Given the description of an element on the screen output the (x, y) to click on. 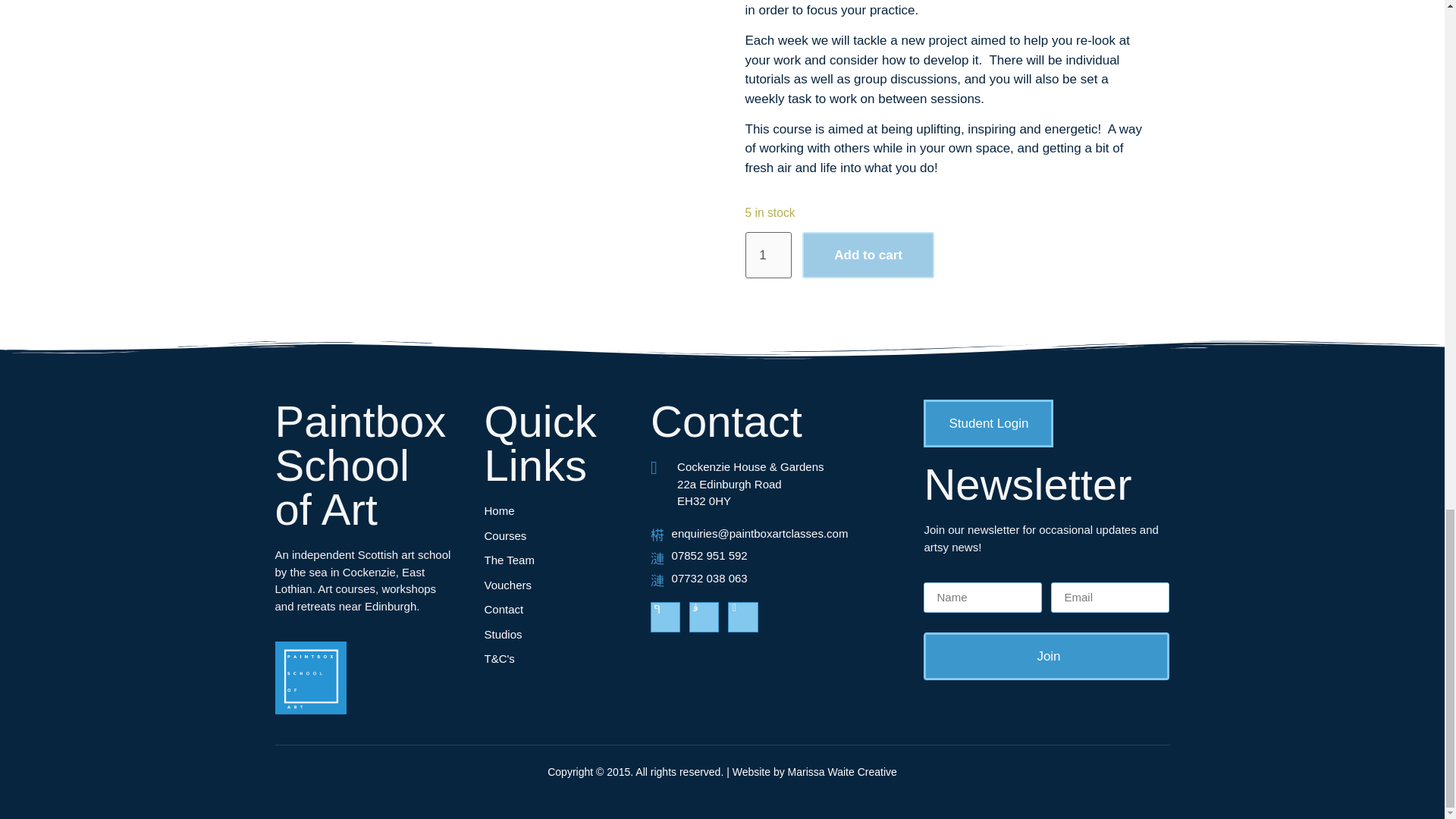
Courses (566, 536)
Add to cart (868, 254)
1 (768, 254)
Home (566, 511)
